Given the description of an element on the screen output the (x, y) to click on. 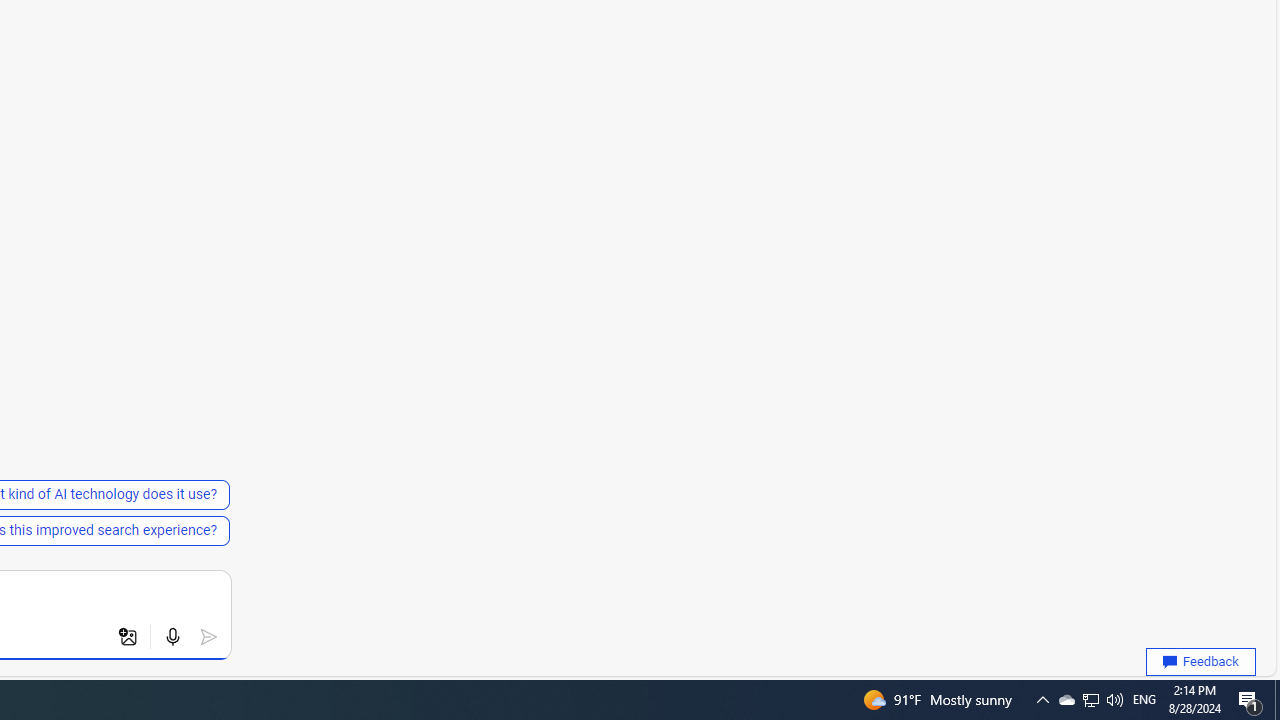
Add an image to search (127, 637)
Submit (208, 637)
Use microphone (172, 637)
